Given the description of an element on the screen output the (x, y) to click on. 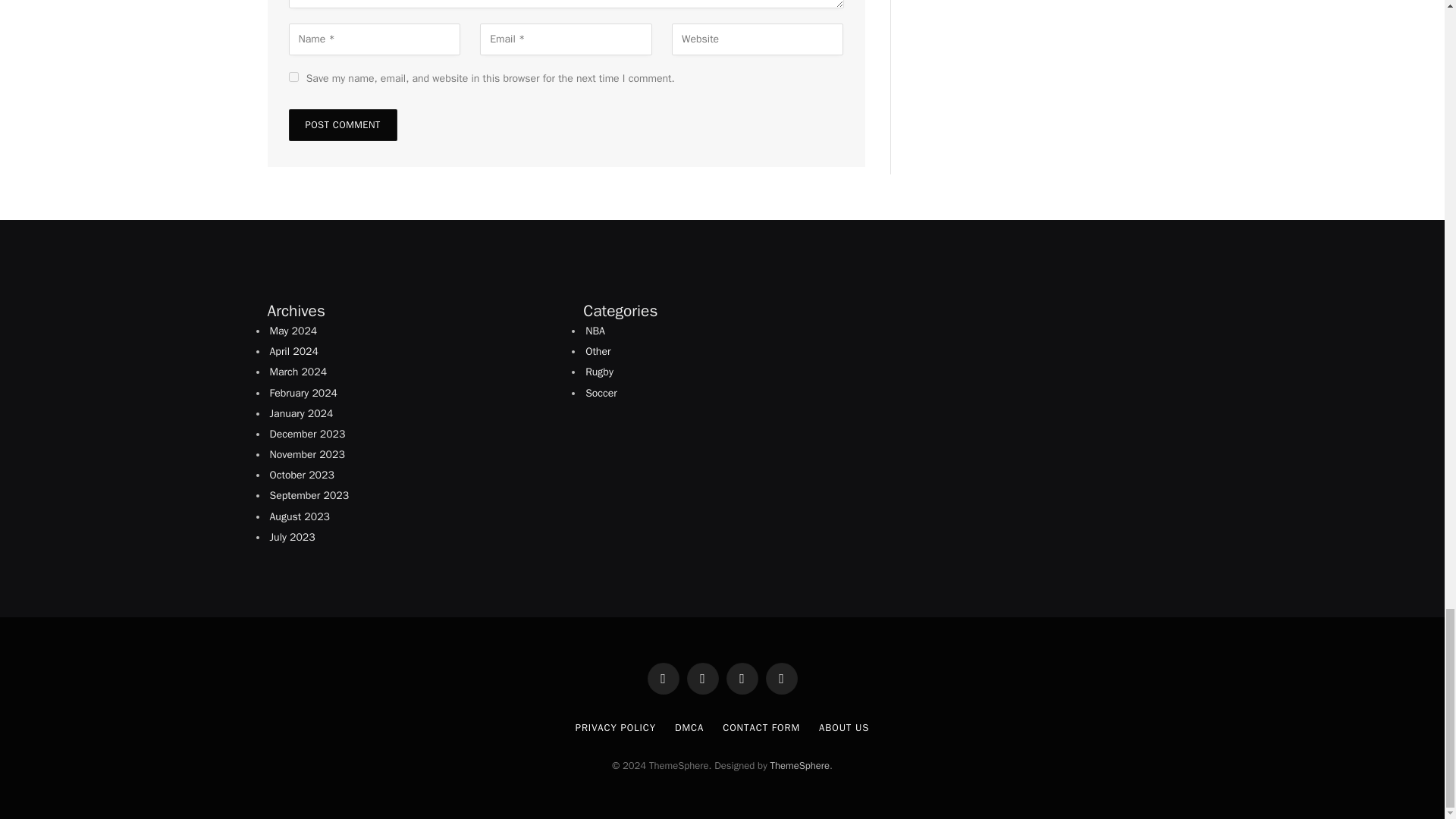
yes (293, 76)
Post Comment (342, 124)
